Given the description of an element on the screen output the (x, y) to click on. 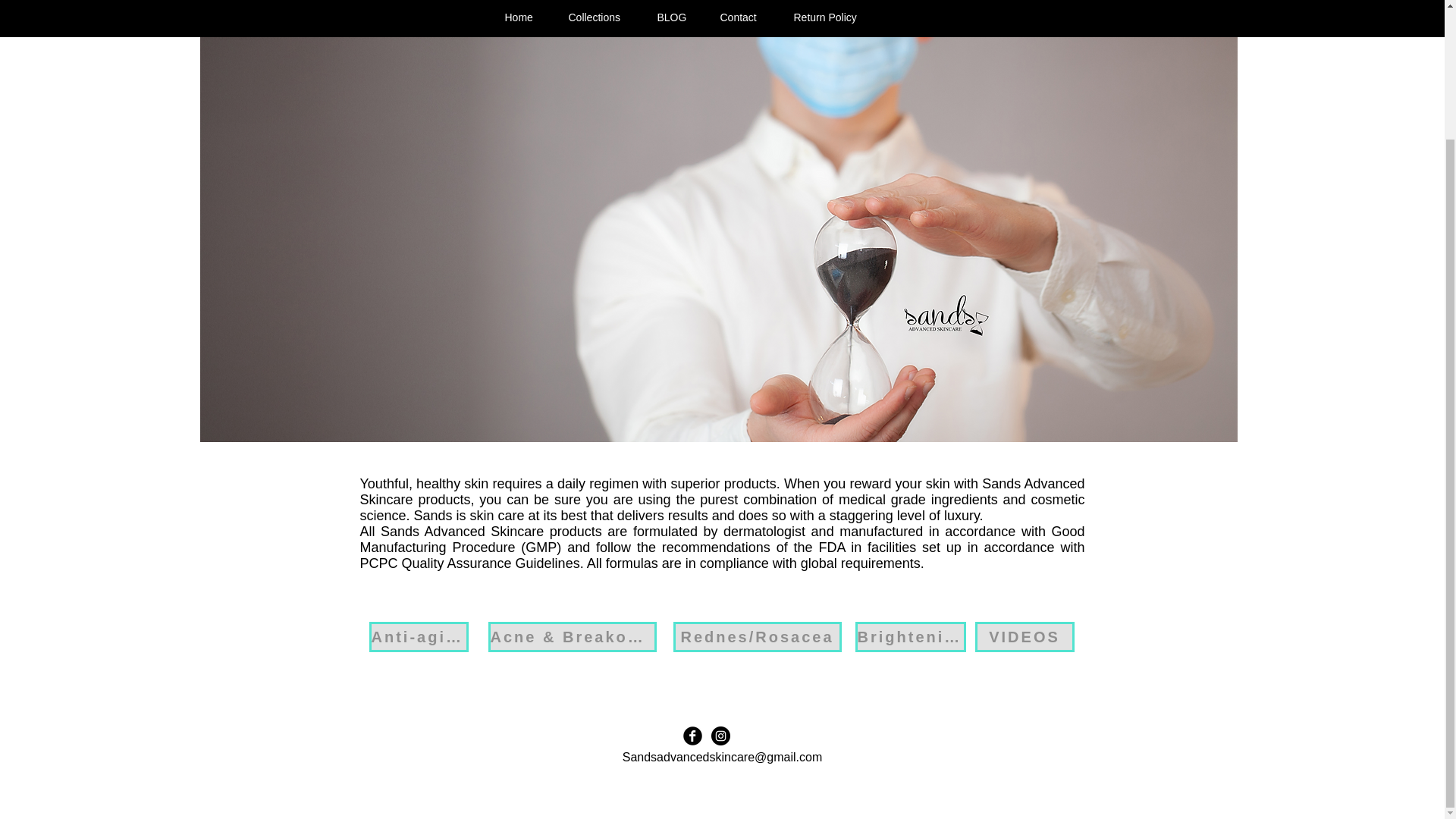
Collections (592, 16)
Anti-aging (417, 636)
Home (516, 16)
Contact (737, 16)
Brightening (911, 636)
BLOG (670, 16)
Return Policy (824, 16)
VIDEOS (1024, 636)
